Given the description of an element on the screen output the (x, y) to click on. 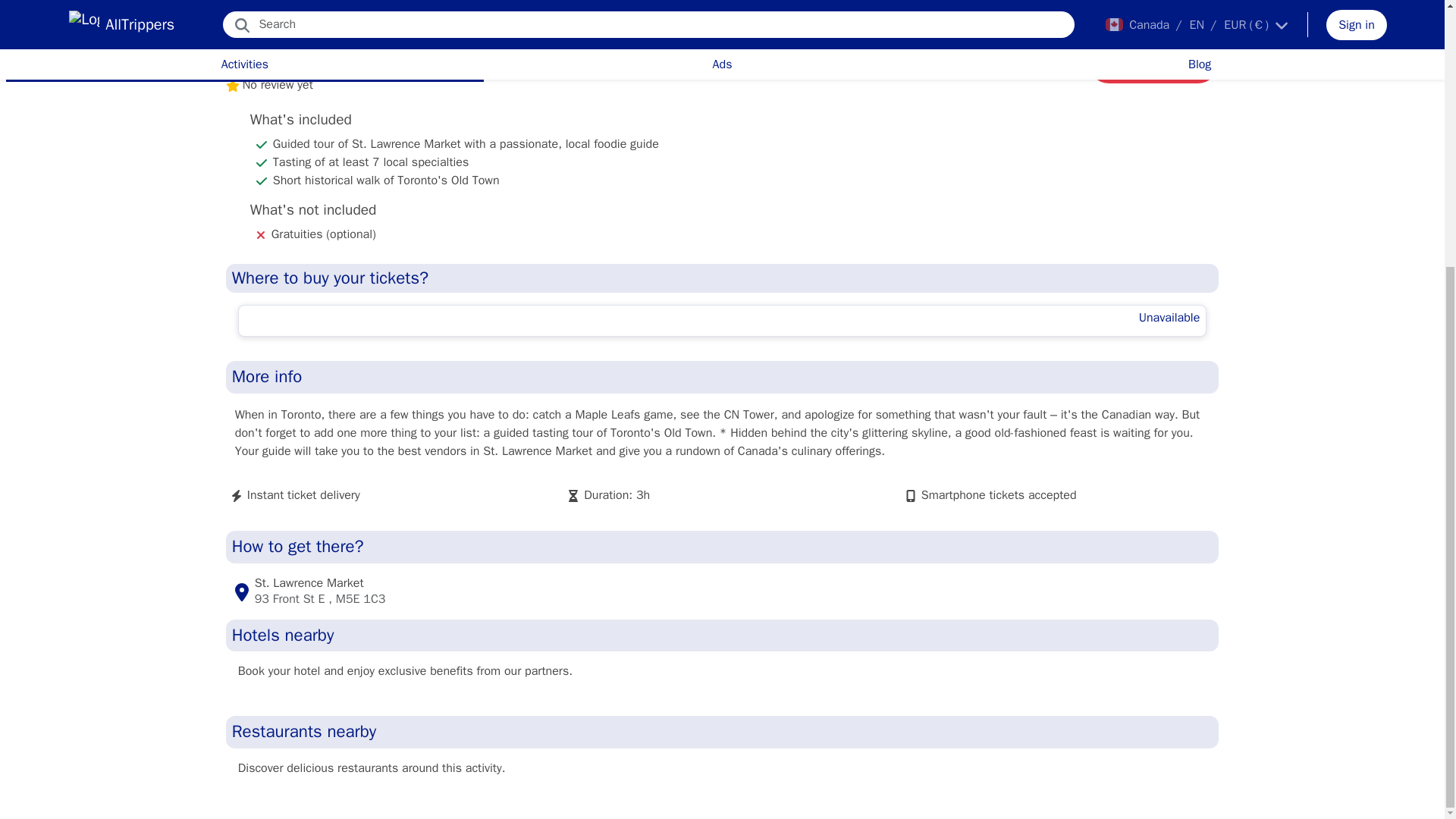
Toronto (290, 18)
Unavailable (722, 320)
Canada (243, 18)
